Given the description of an element on the screen output the (x, y) to click on. 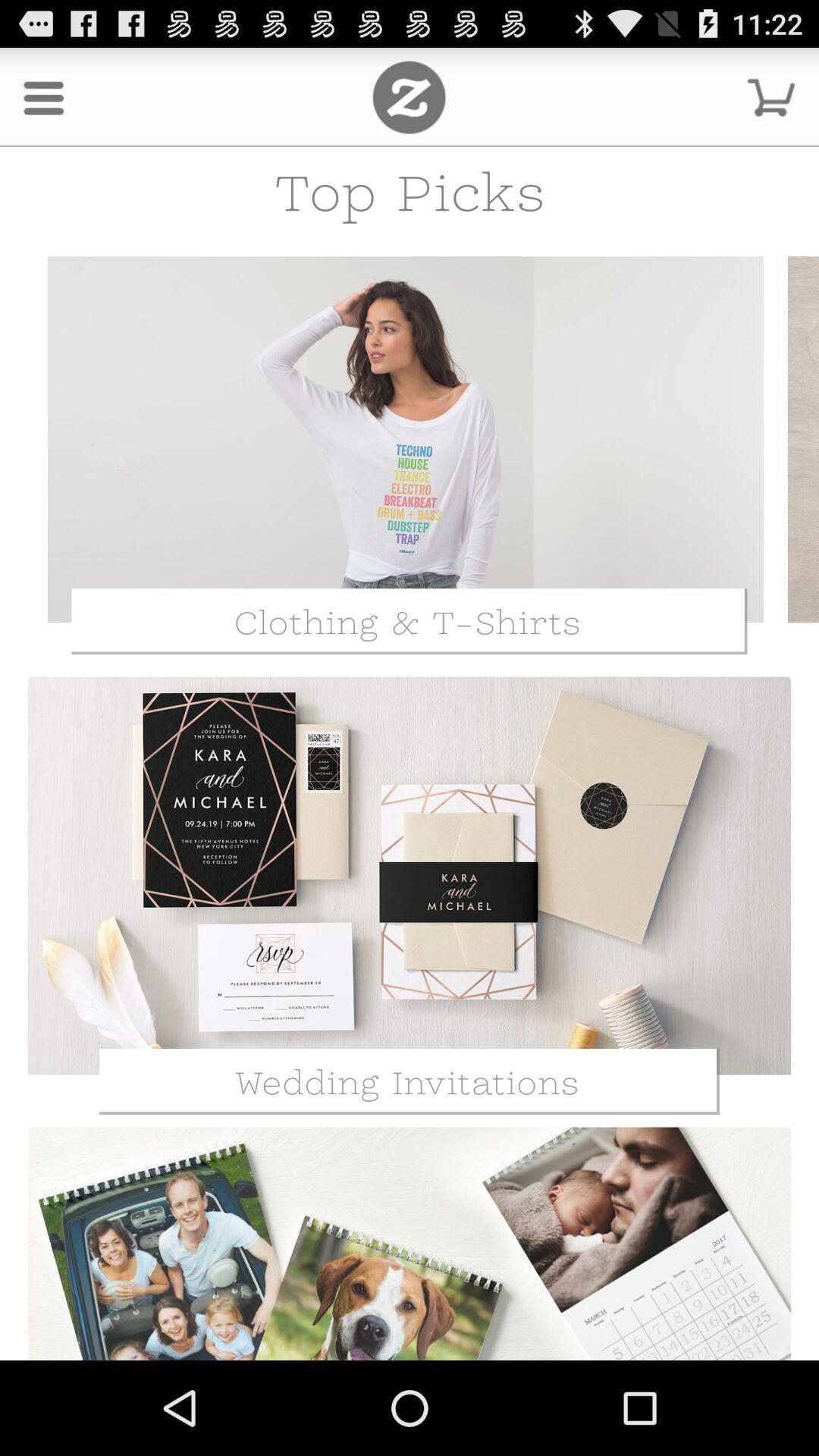
clothing options tab (405, 439)
